Given the description of an element on the screen output the (x, y) to click on. 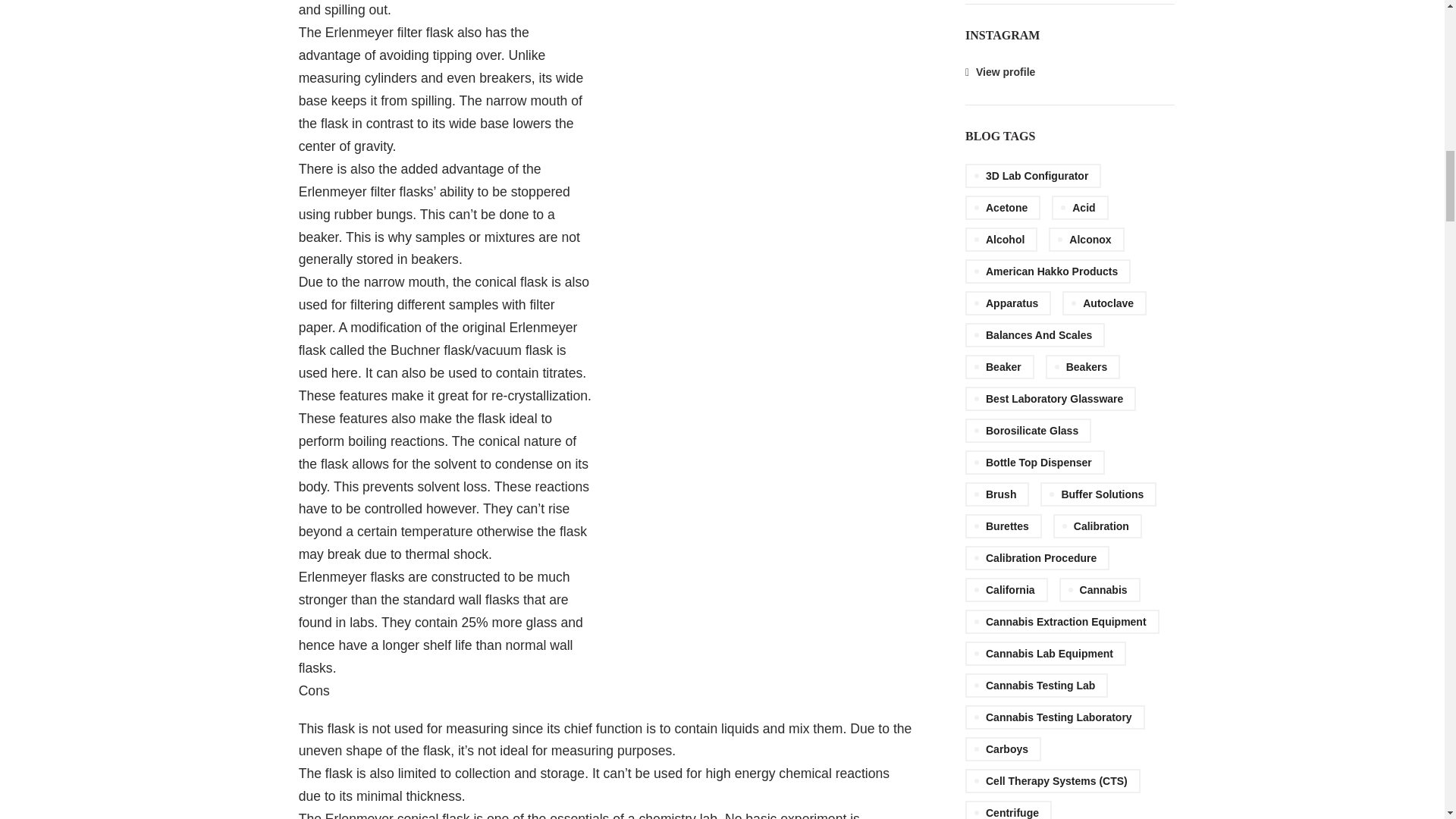
Show articles tagged best laboratory glassware (1050, 398)
Show articles tagged buffer solutions (1098, 494)
Show articles tagged Bottle Top Dispenser (1035, 462)
Show articles tagged autoclave (1104, 303)
Show articles tagged acid (1079, 207)
Show articles tagged acetone (1003, 207)
Show articles tagged calibration (1096, 526)
Show articles tagged 3D lab configurator (1032, 175)
Show articles tagged alcohol (1000, 239)
Show articles tagged American Hakko Products (1048, 271)
